Given the description of an element on the screen output the (x, y) to click on. 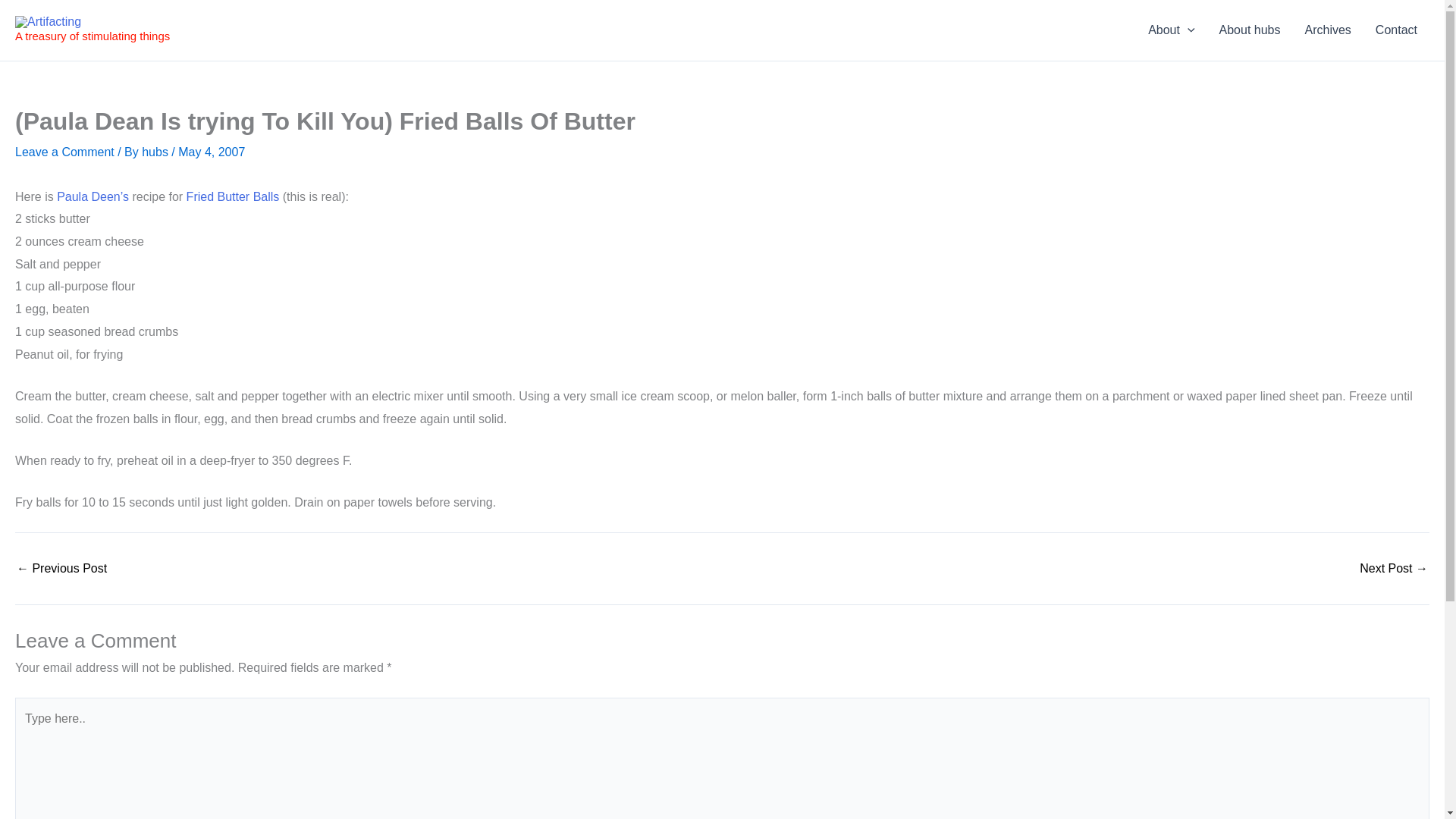
Mathematics In Movies (1393, 568)
hubs (156, 151)
About (1171, 30)
Archives (1327, 30)
About hubs (1249, 30)
Leave a Comment (64, 151)
Fried Butter Balls (232, 196)
View all posts by hubs (156, 151)
Contact (1395, 30)
